Given the description of an element on the screen output the (x, y) to click on. 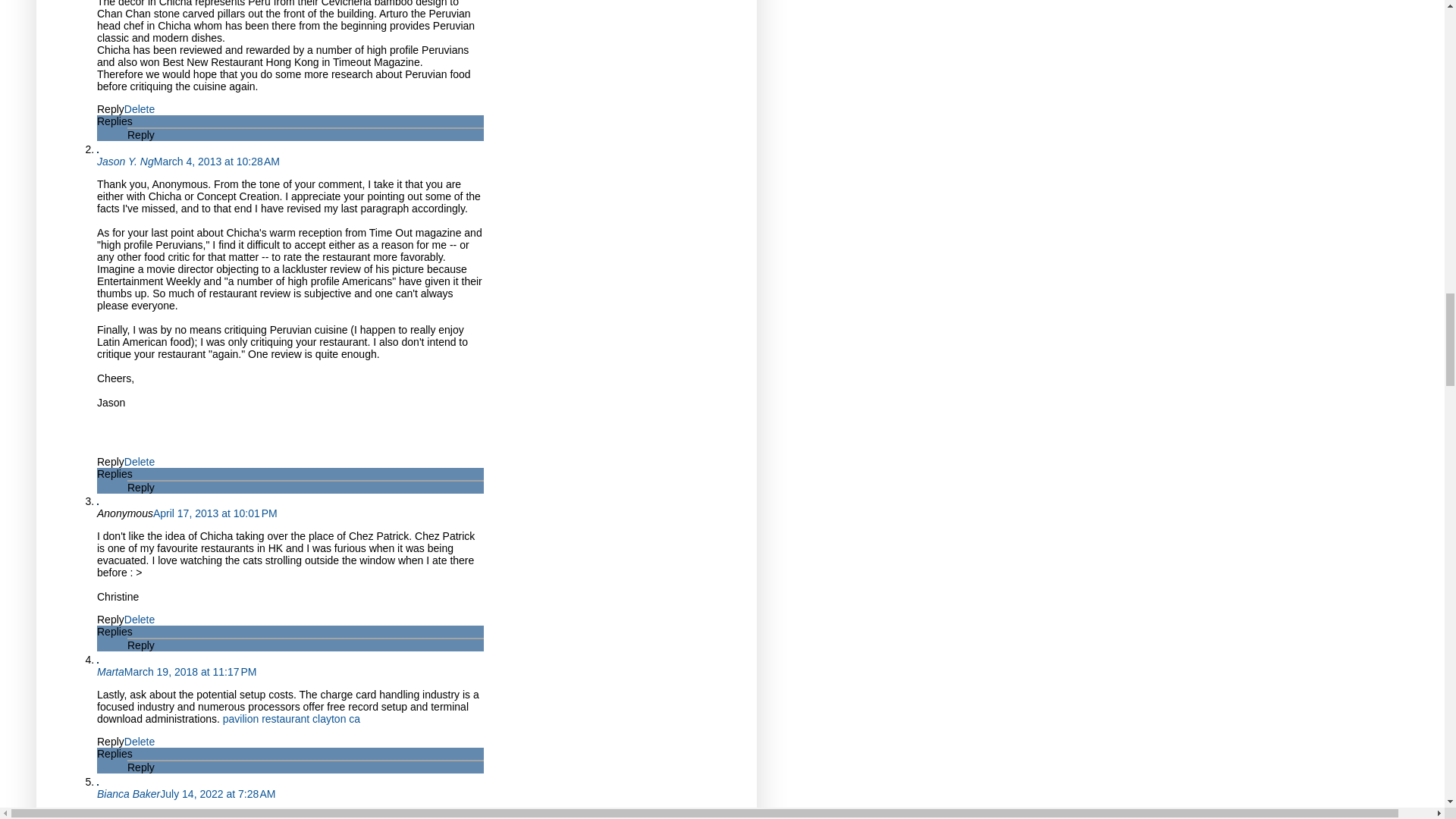
Replies (114, 631)
Replies (114, 473)
Reply (110, 619)
Jason Y. Ng (125, 161)
Delete (138, 109)
Marta (110, 671)
Delete (138, 619)
Reply (141, 645)
Reply (141, 134)
Reply (110, 109)
Reply (110, 741)
Reply (141, 487)
Delete (138, 461)
